Given the description of an element on the screen output the (x, y) to click on. 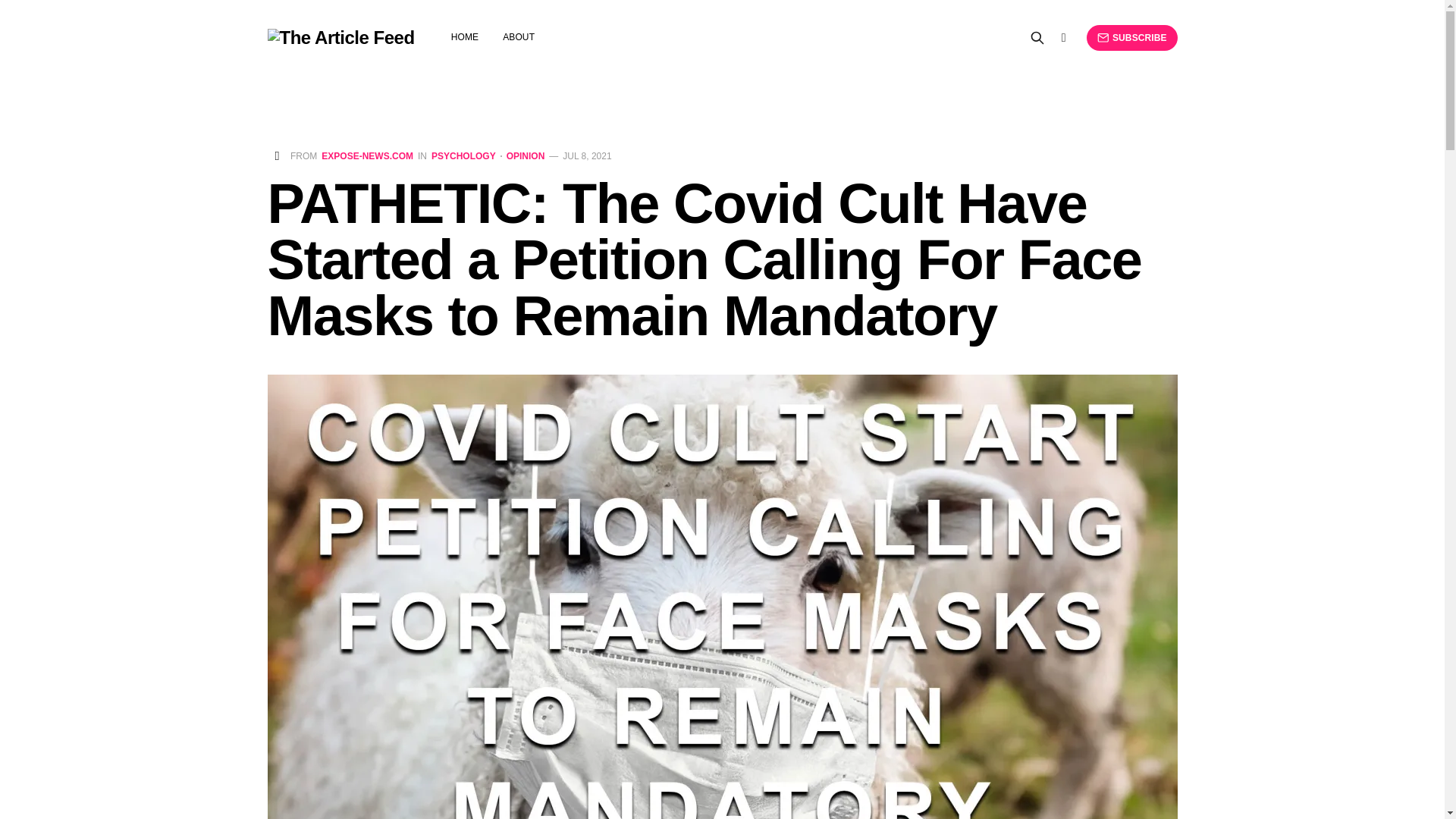
PSYCHOLOGY (463, 155)
HOME (465, 36)
SUBSCRIBE (1131, 37)
OPINION (522, 155)
EXPOSE-NEWS.COM (367, 155)
ABOUT (518, 36)
